Given the description of an element on the screen output the (x, y) to click on. 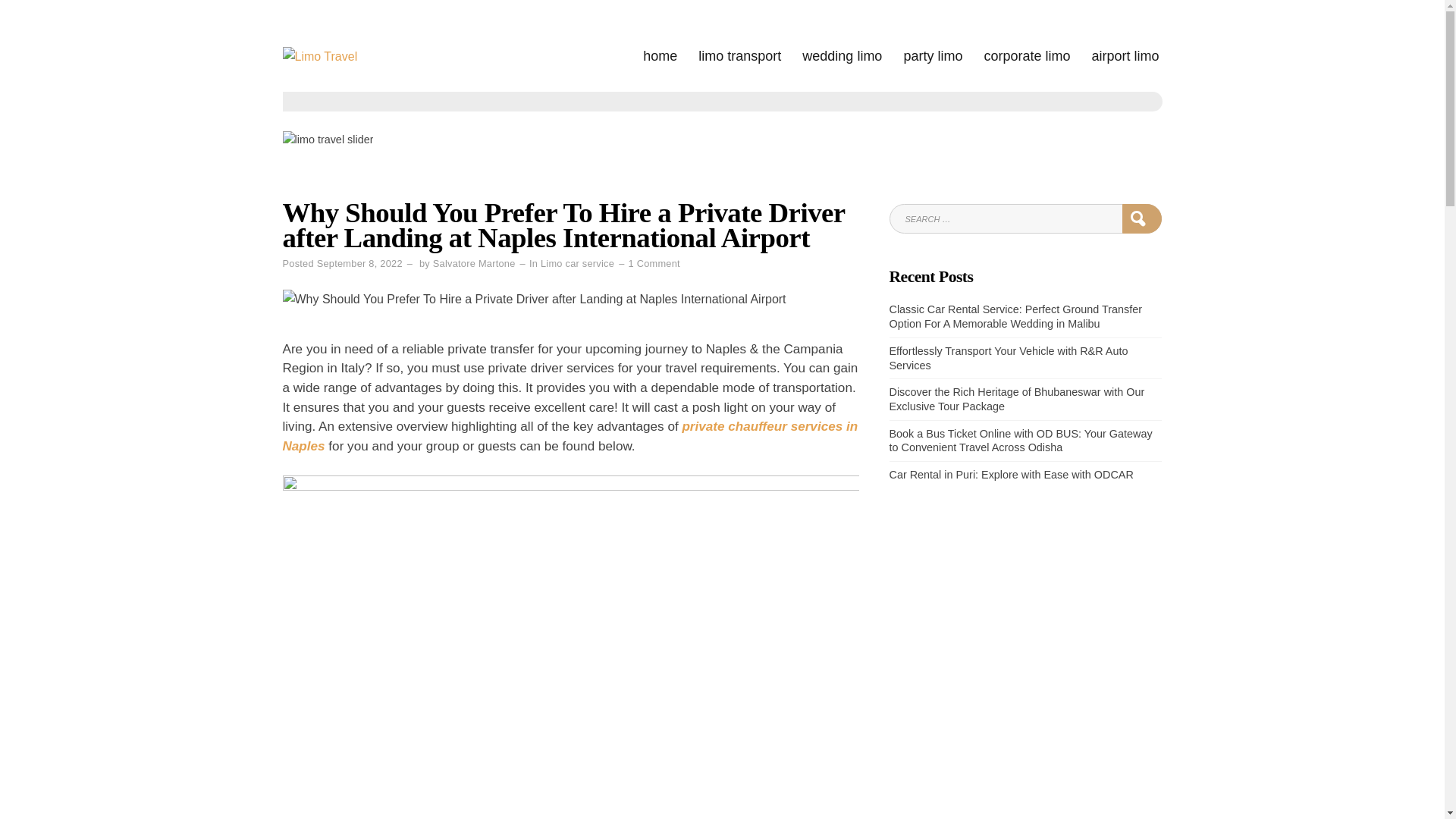
September 8, 2022 (360, 263)
party limo (932, 56)
Salvatore Martone (473, 263)
Limo car service (577, 263)
airport limo (1124, 56)
corporate limo (1027, 56)
home (660, 56)
wedding limo (842, 56)
